Given the description of an element on the screen output the (x, y) to click on. 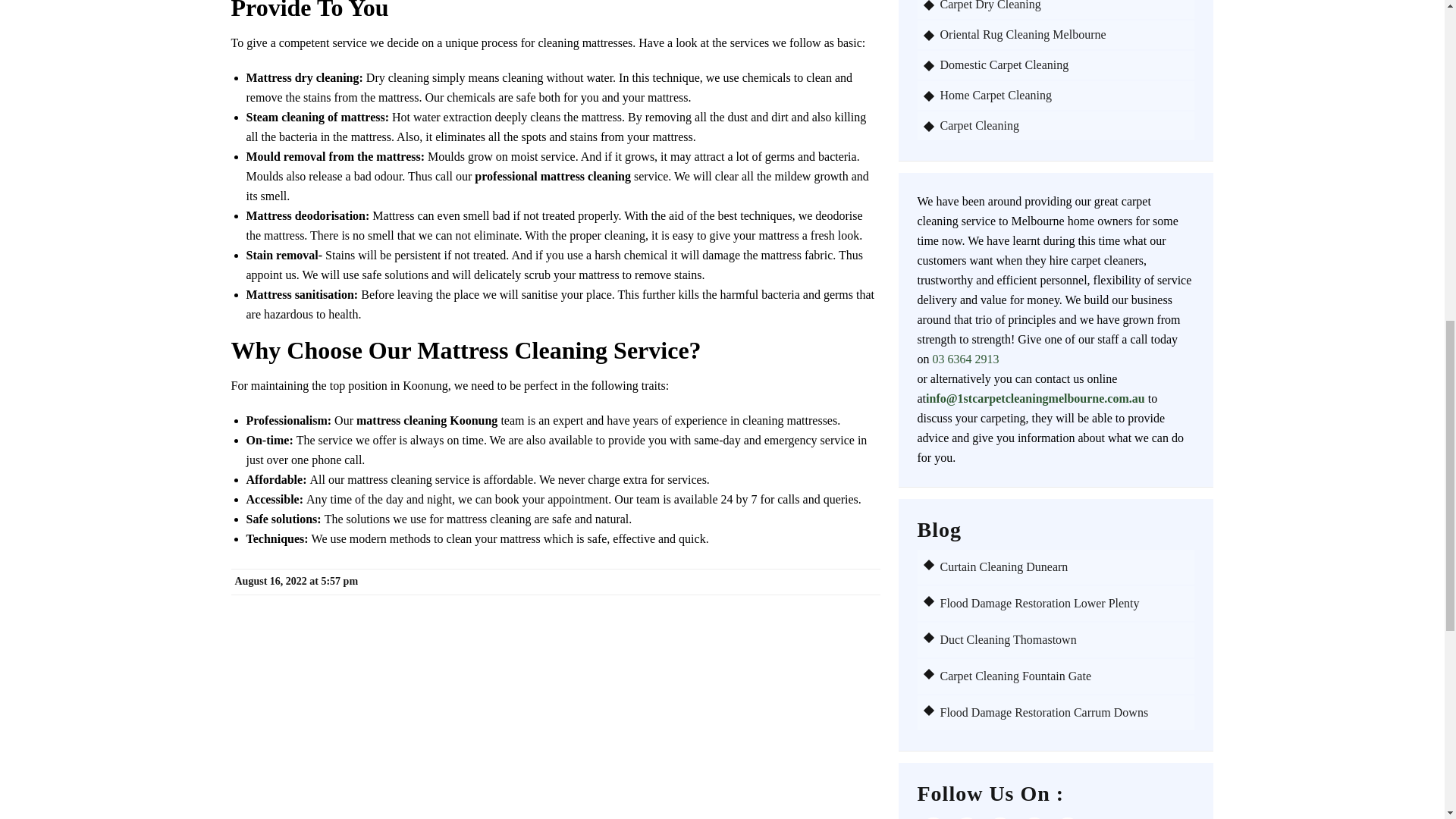
Oriental Rug Cleaning Melbourne (1064, 34)
Curtain Cleaning Dunearn (1004, 566)
Home Carpet Cleaning (1064, 95)
Domestic Carpet Cleaning (1064, 65)
Carpet Dry Cleaning (1064, 5)
Carpet Cleaning (1064, 125)
03 6364 2913 (965, 358)
